Given the description of an element on the screen output the (x, y) to click on. 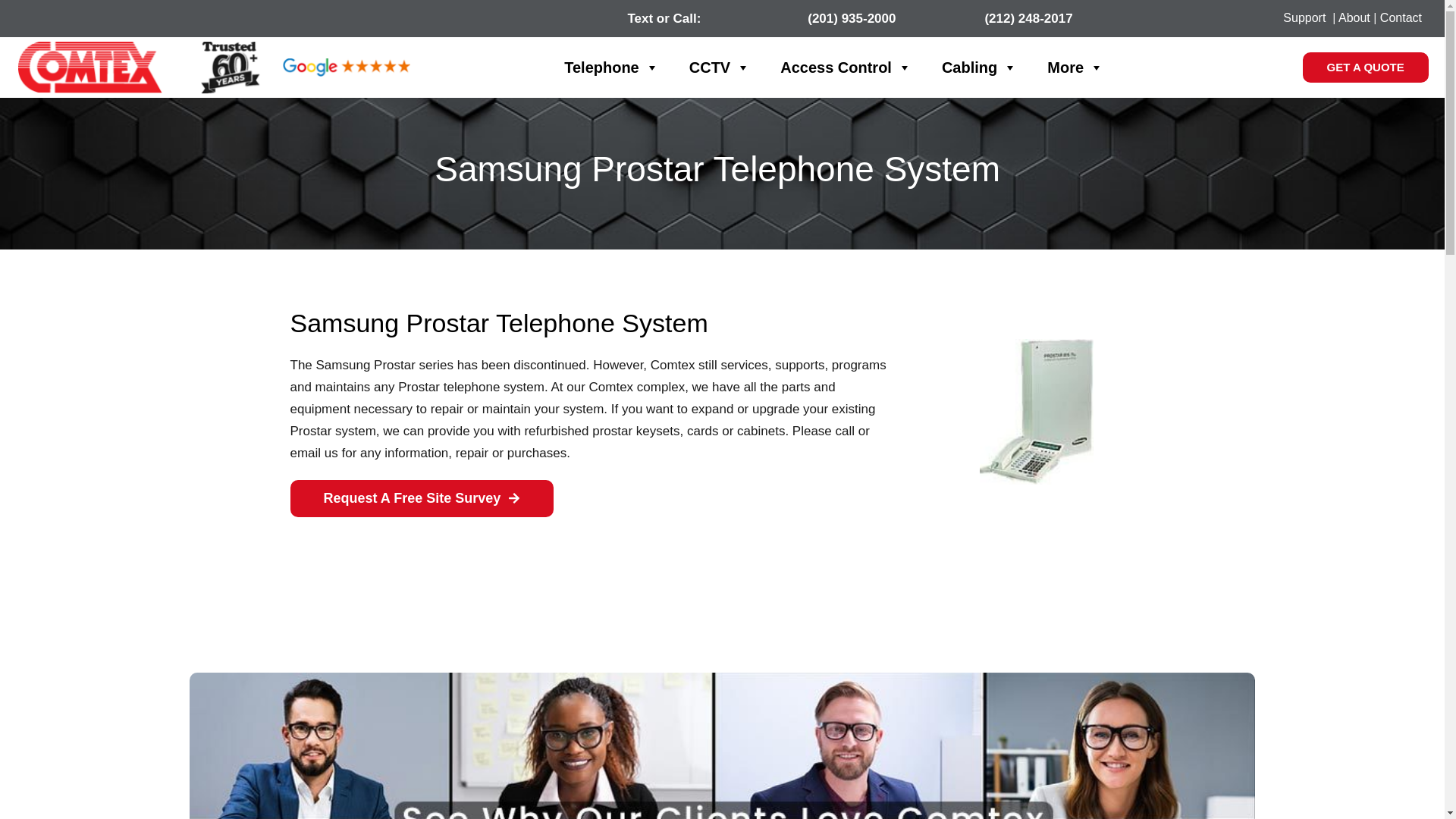
Support (1303, 17)
Contact (1401, 17)
Cabling (979, 67)
About (1354, 17)
CCTV (719, 67)
More (1074, 67)
Access Control (845, 67)
GET A QUOTE (1365, 67)
Telephone (611, 67)
